Given the description of an element on the screen output the (x, y) to click on. 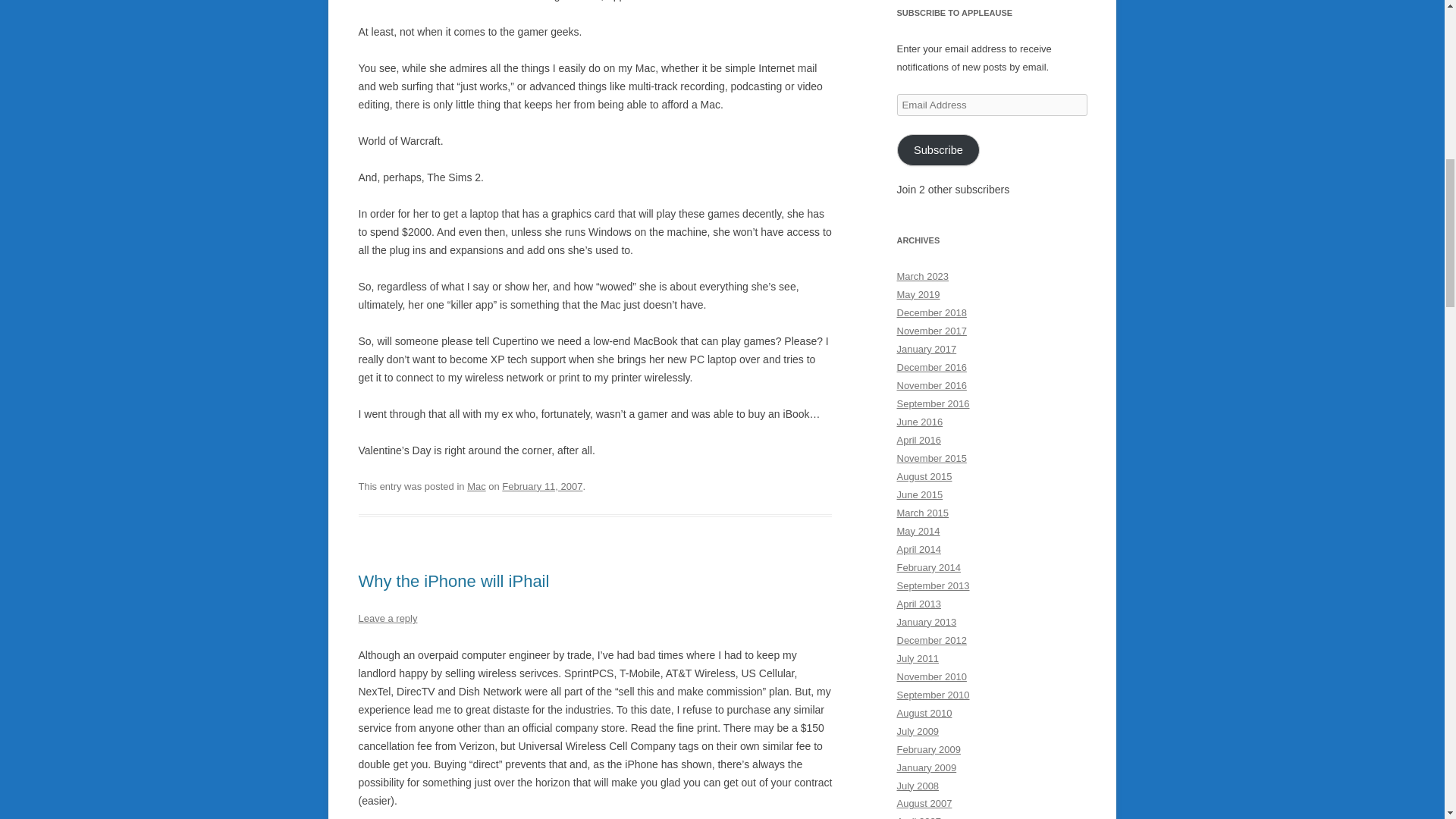
Leave a reply (387, 618)
Mac (476, 486)
4:46 am (542, 486)
Why the iPhone will iPhail (453, 580)
February 11, 2007 (542, 486)
